Given the description of an element on the screen output the (x, y) to click on. 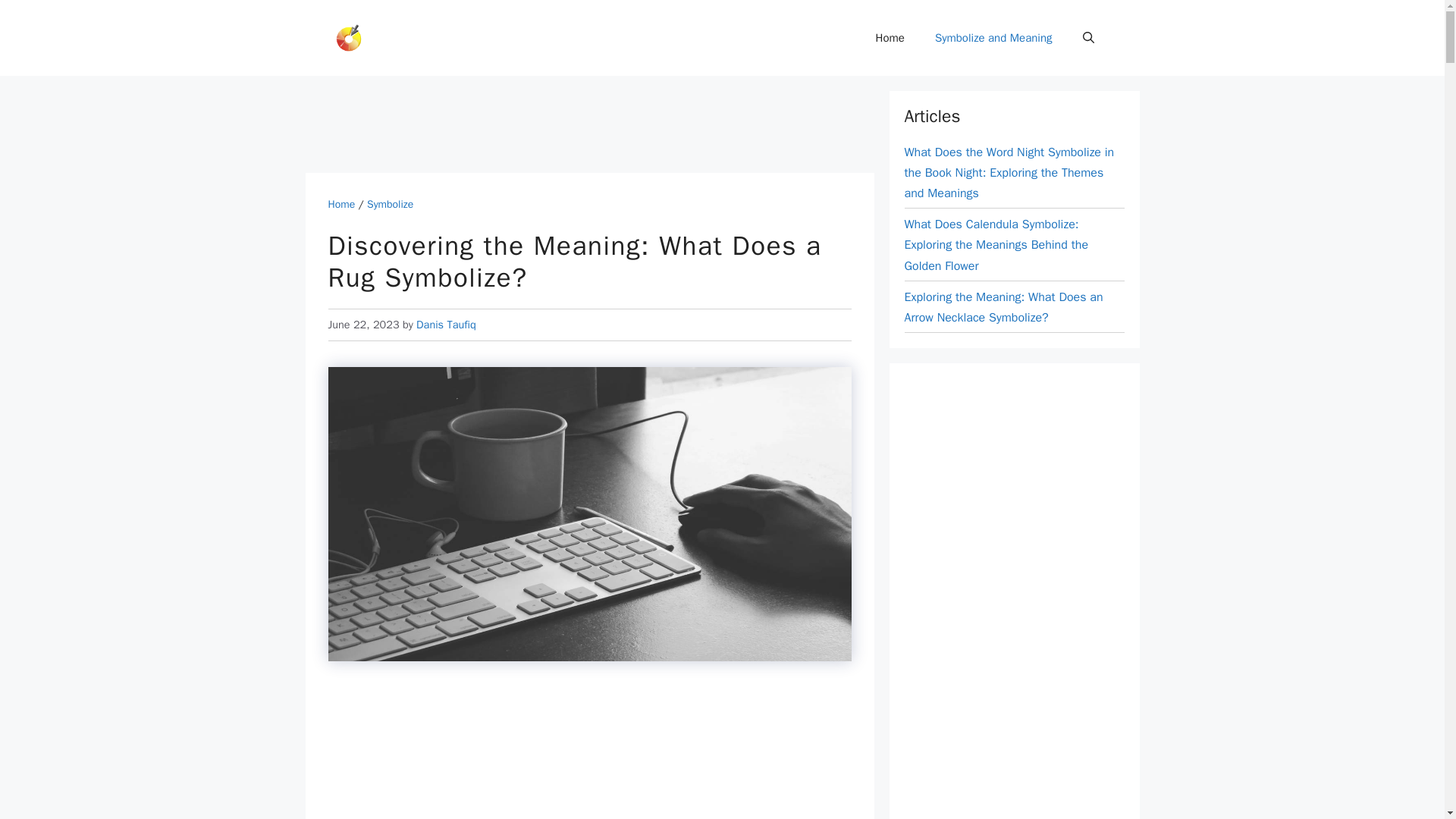
Danis Taufiq (446, 324)
Advertisement (589, 753)
View all posts by Danis Taufiq (446, 324)
Symbolize (389, 204)
Symbolize and Meaning (993, 37)
Advertisement (580, 124)
Home (341, 204)
Home (890, 37)
